Given the description of an element on the screen output the (x, y) to click on. 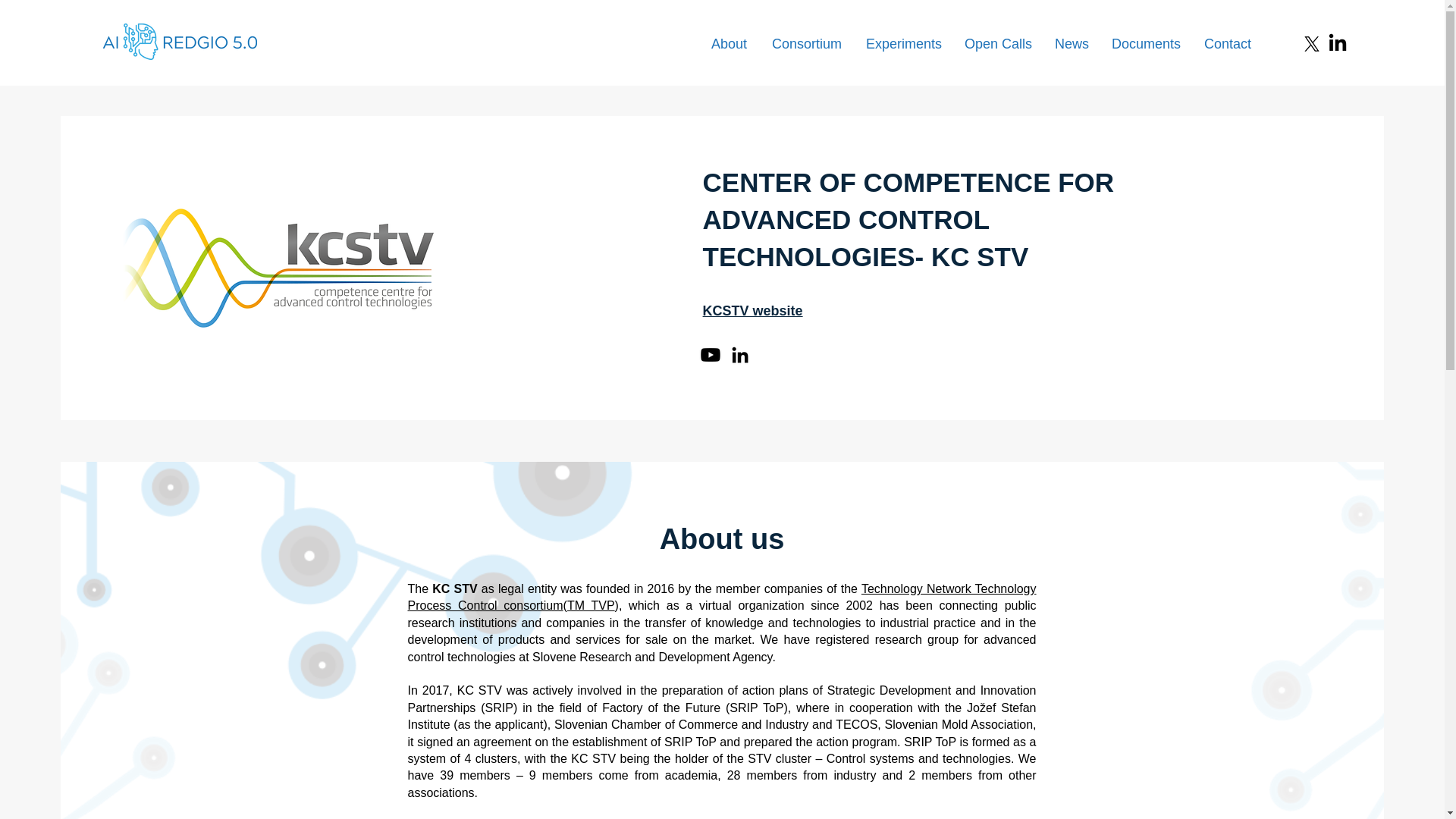
Experiments (903, 43)
KCSTV website (753, 310)
TM TVP (590, 604)
Technology Network Technology Process Control consortium (721, 596)
Contact (1227, 43)
Documents (1146, 43)
About (730, 43)
Consortium (807, 43)
